Given the description of an element on the screen output the (x, y) to click on. 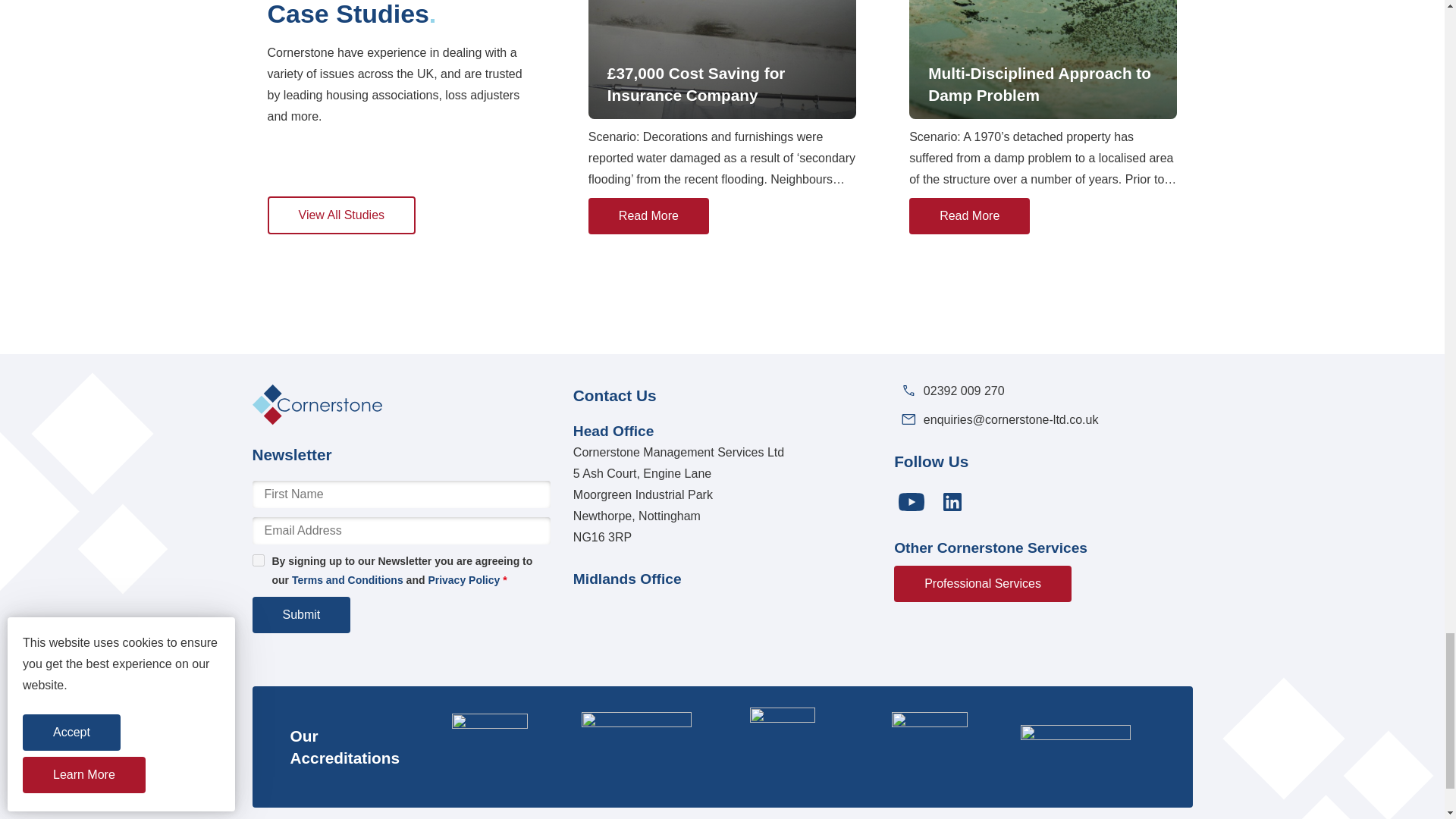
on (257, 560)
